Given the description of an element on the screen output the (x, y) to click on. 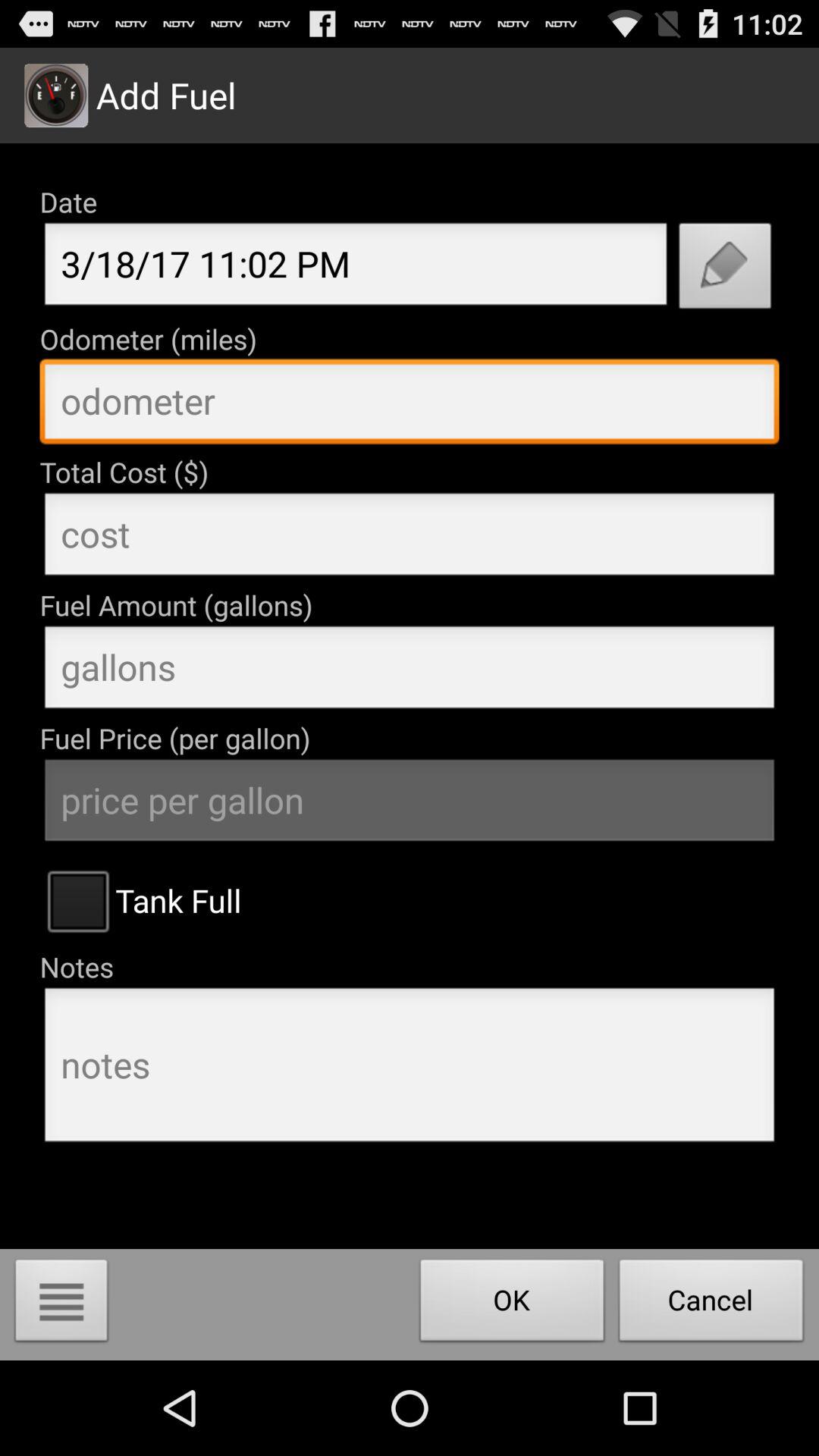
click on odometer text field (409, 405)
select the date and time text below date (355, 268)
click on ok button left to cancel button (512, 1304)
move to the field below fuel amountgallons (409, 671)
click on edit date icon next to date text field (725, 270)
